Given the description of an element on the screen output the (x, y) to click on. 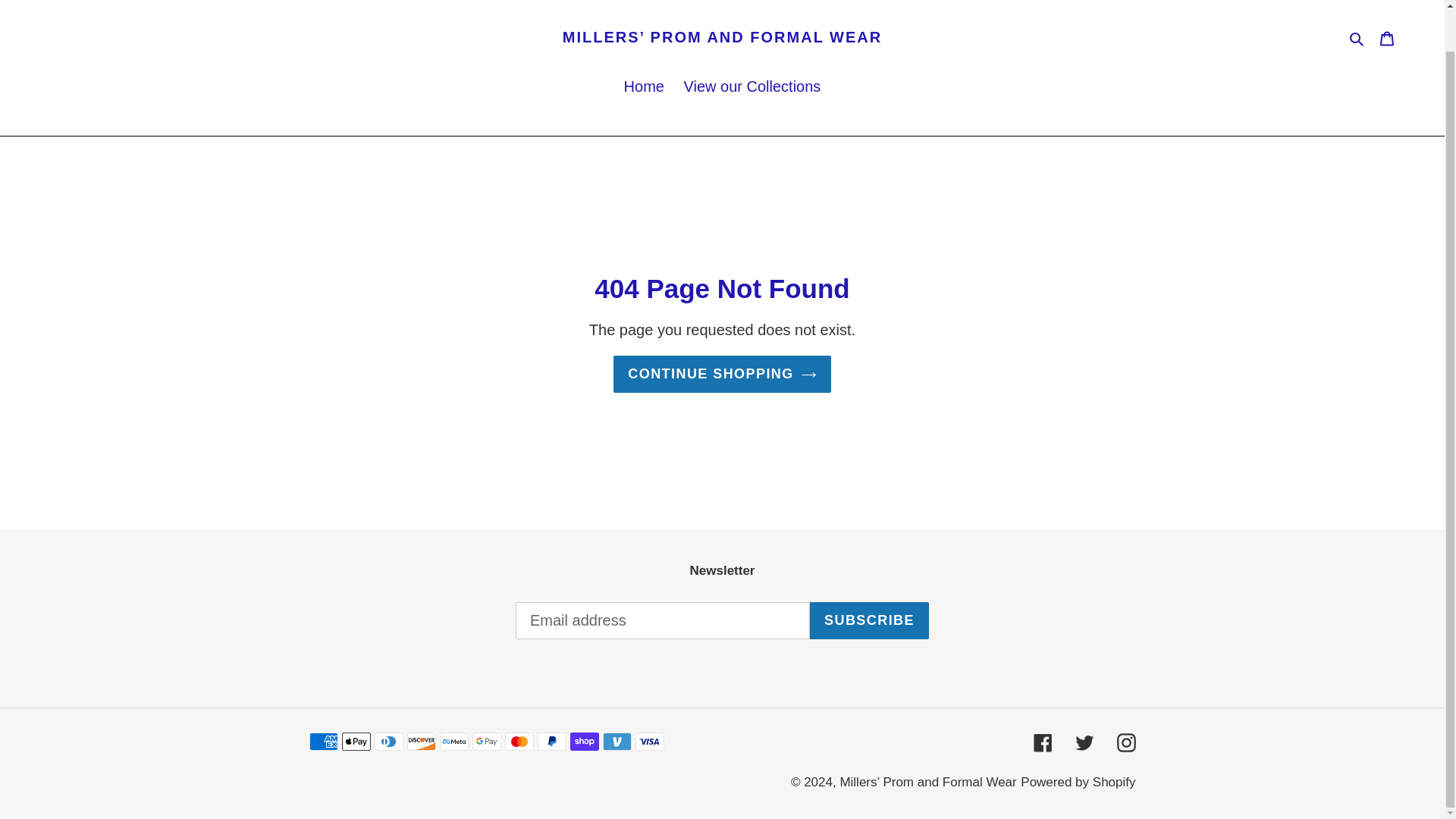
Home (643, 87)
CONTINUE SHOPPING (721, 374)
View our Collections (752, 87)
Powered by Shopify (1077, 781)
SUBSCRIBE (868, 620)
Search (1357, 37)
